Given the description of an element on the screen output the (x, y) to click on. 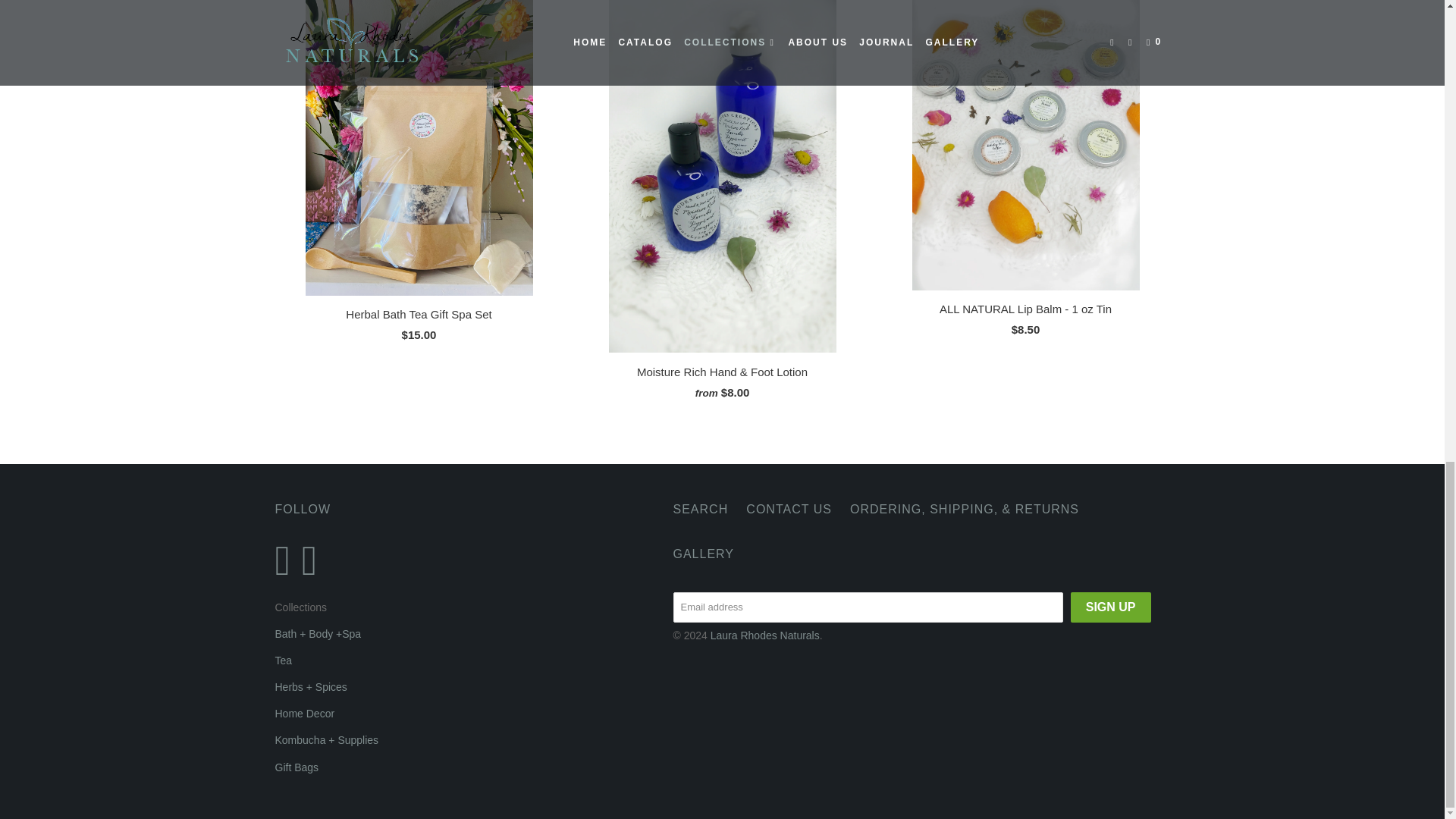
Sign Up (1110, 606)
